Given the description of an element on the screen output the (x, y) to click on. 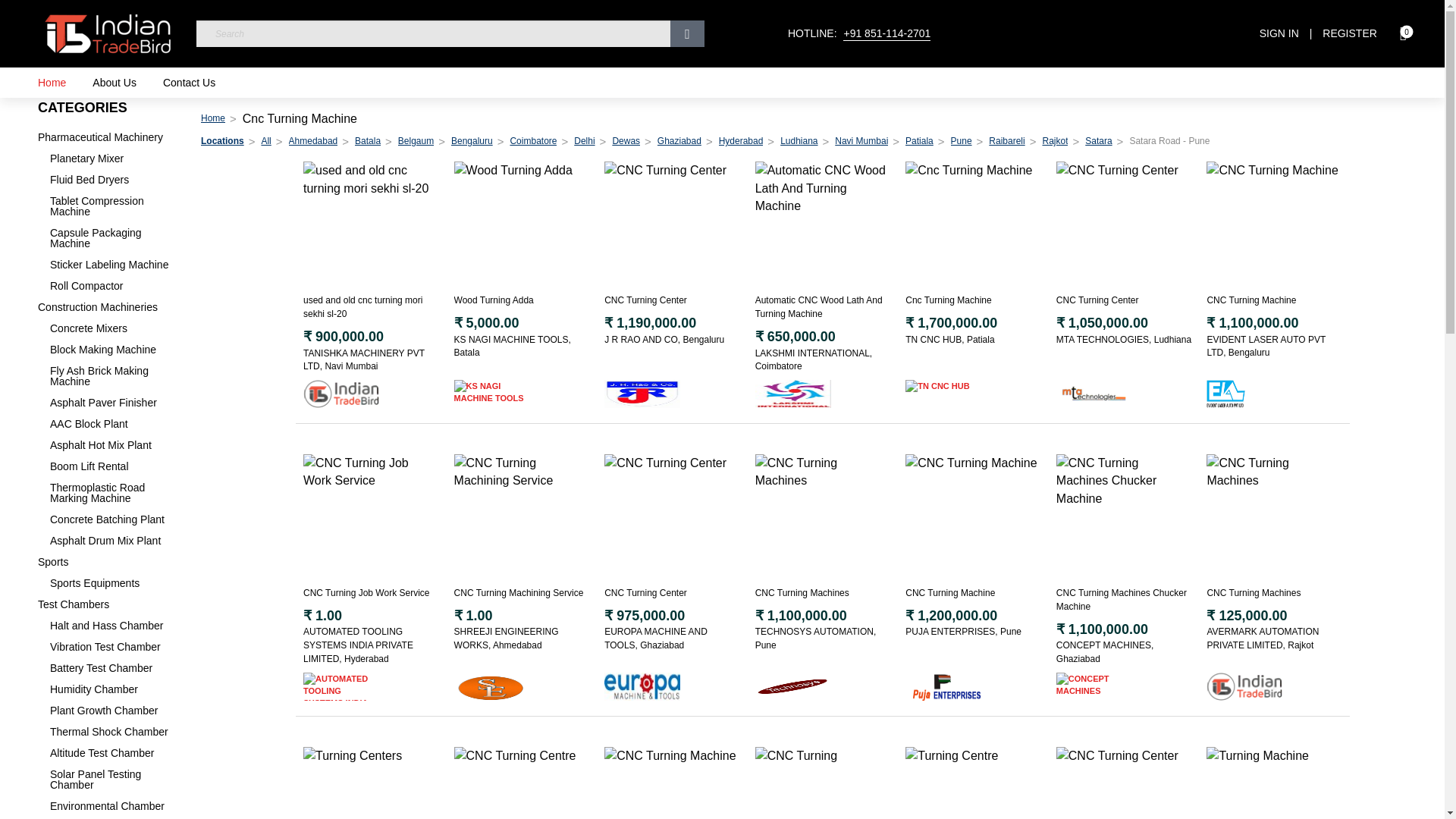
Sports (107, 561)
Hyderabad (740, 141)
Home (51, 82)
Roll Compactor (113, 285)
Concrete Batching Plant (113, 519)
Coimbatore (532, 141)
Fluid Bed Dryers (113, 179)
AAC Block Plant (113, 423)
Locations (222, 141)
Indian Trade Bird (212, 118)
Test Chambers (107, 603)
Ghaziabad (679, 141)
Sports Equipments (113, 583)
Boom Lift Rental (113, 466)
Concrete Mixers (113, 327)
